Given the description of an element on the screen output the (x, y) to click on. 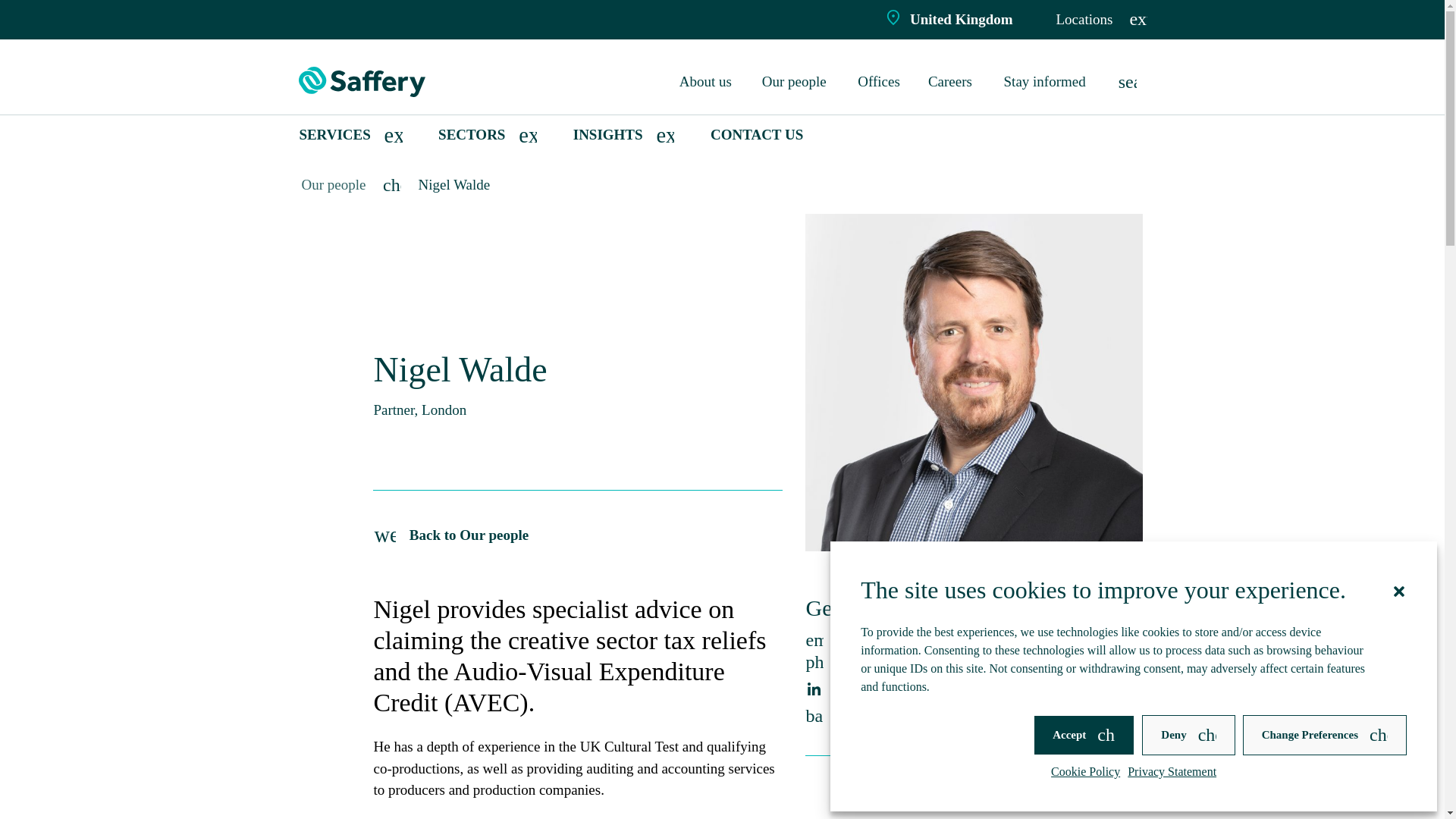
Careers (951, 82)
Our people (333, 184)
Privacy Statement (1170, 771)
Stay informed (1047, 82)
Cookie Policy (1085, 771)
Change Preferences (1324, 734)
Our people (796, 82)
Offices (879, 82)
Accept (1083, 734)
About us (706, 82)
Nigel Walde (454, 184)
Deny (1187, 734)
CONTACT US (756, 134)
